Given the description of an element on the screen output the (x, y) to click on. 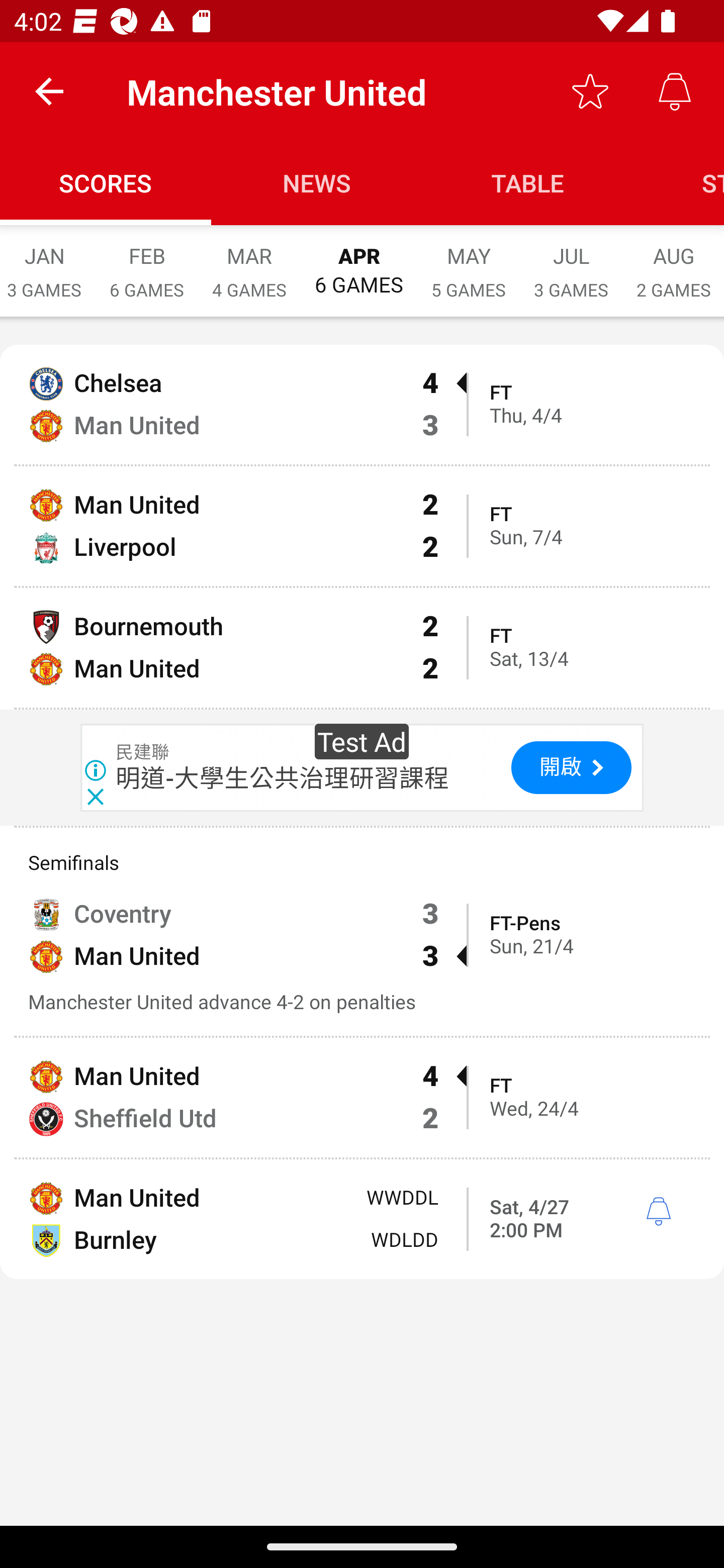
back.button (49, 90)
Favorite toggle (590, 90)
Alerts (674, 90)
News NEWS (316, 183)
Table TABLE (527, 183)
JAN 3 GAMES (47, 262)
FEB 6 GAMES (146, 262)
MAR 4 GAMES (249, 262)
APR 6 GAMES (358, 261)
MAY 5 GAMES (468, 262)
JUL 3 GAMES (570, 262)
AUG 2 GAMES (673, 262)
Chelsea 4  Man United 3 FT Thu, 4/4 (362, 404)
Man United 2 Liverpool 2 FT Sun, 7/4 (362, 525)
Bournemouth 2 Man United 2 FT Sat, 13/4 (362, 647)
民建聯 (142, 752)
開啟 (570, 767)
明道-大學生公共治理研習課程 (282, 777)
Man United 4  Sheffield Utd 2 FT Wed, 24/4 (362, 1097)
Man United WWDDL Burnley WDLDD Sat, 4/27 2:00 PM í (362, 1218)
í (658, 1211)
